Given the description of an element on the screen output the (x, y) to click on. 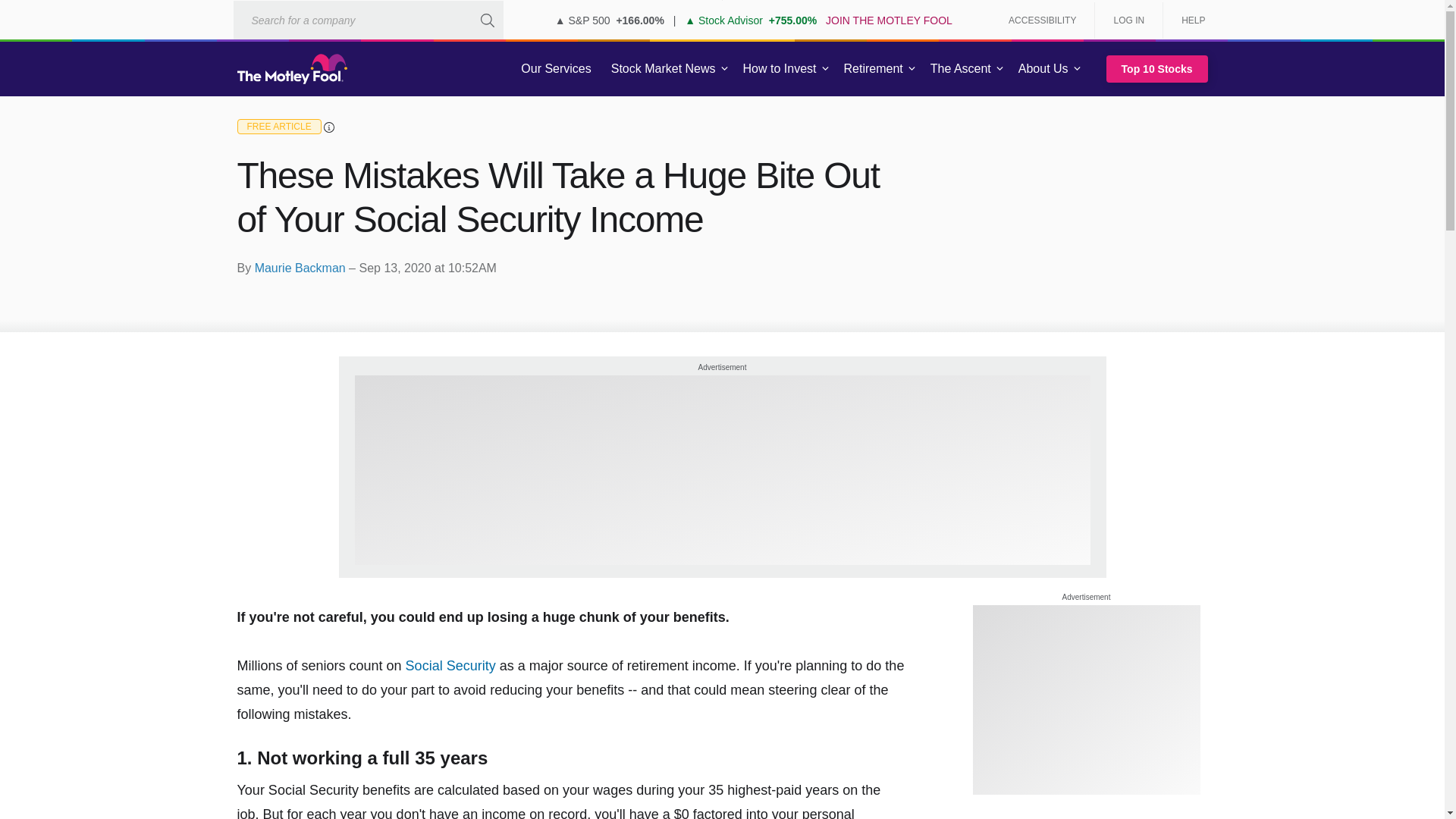
LOG IN (1128, 19)
ACCESSIBILITY (1042, 19)
How to Invest (779, 68)
HELP (1187, 19)
Stock Market News (662, 68)
Our Services (555, 68)
